Given the description of an element on the screen output the (x, y) to click on. 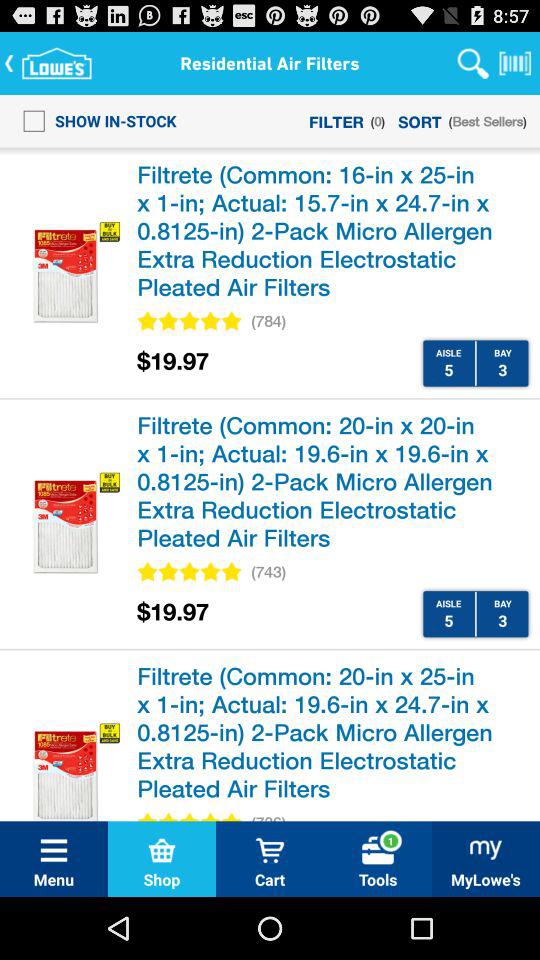
select item to the left of filter (94, 120)
